Given the description of an element on the screen output the (x, y) to click on. 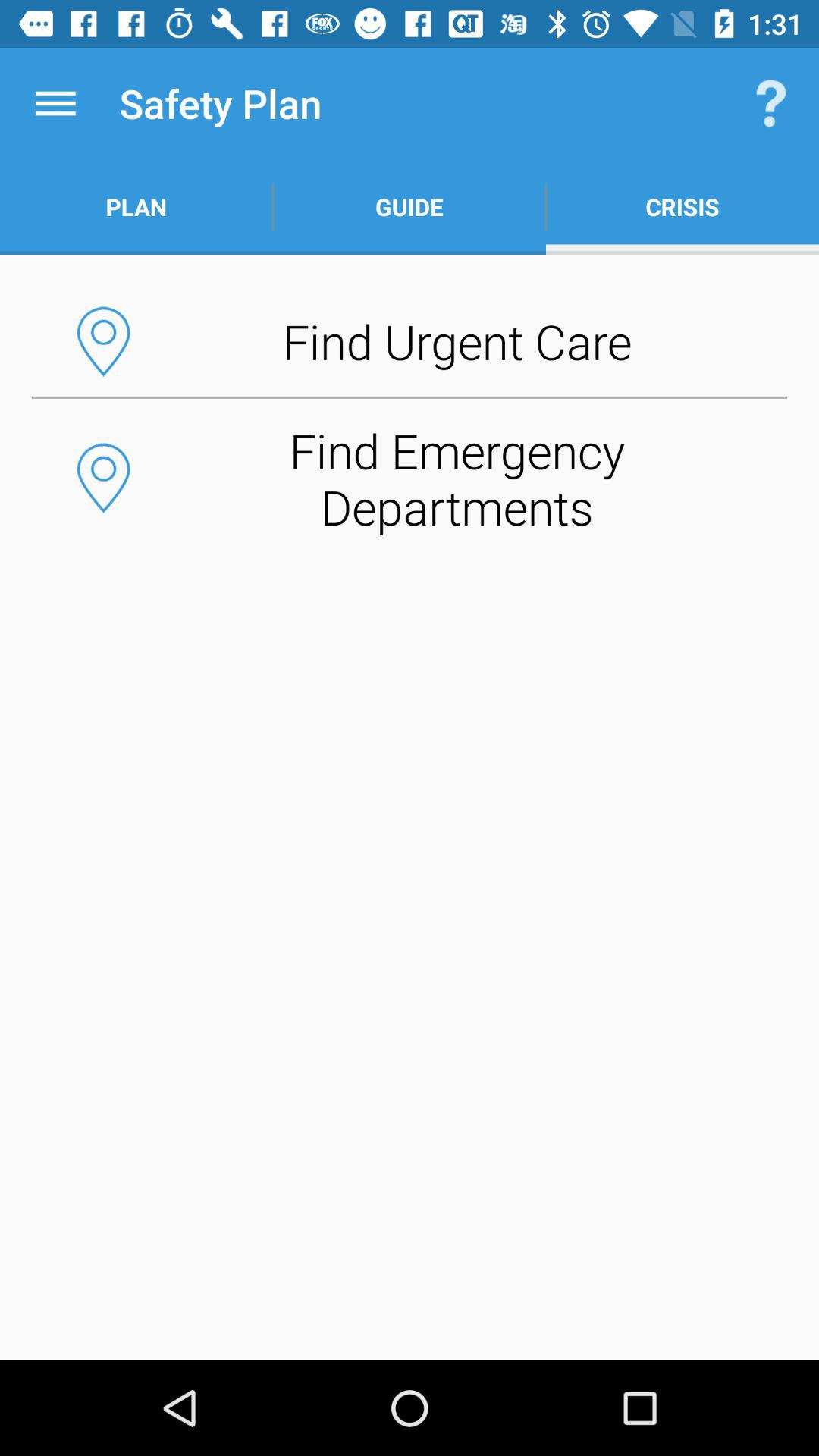
turn off the guide icon (409, 206)
